Given the description of an element on the screen output the (x, y) to click on. 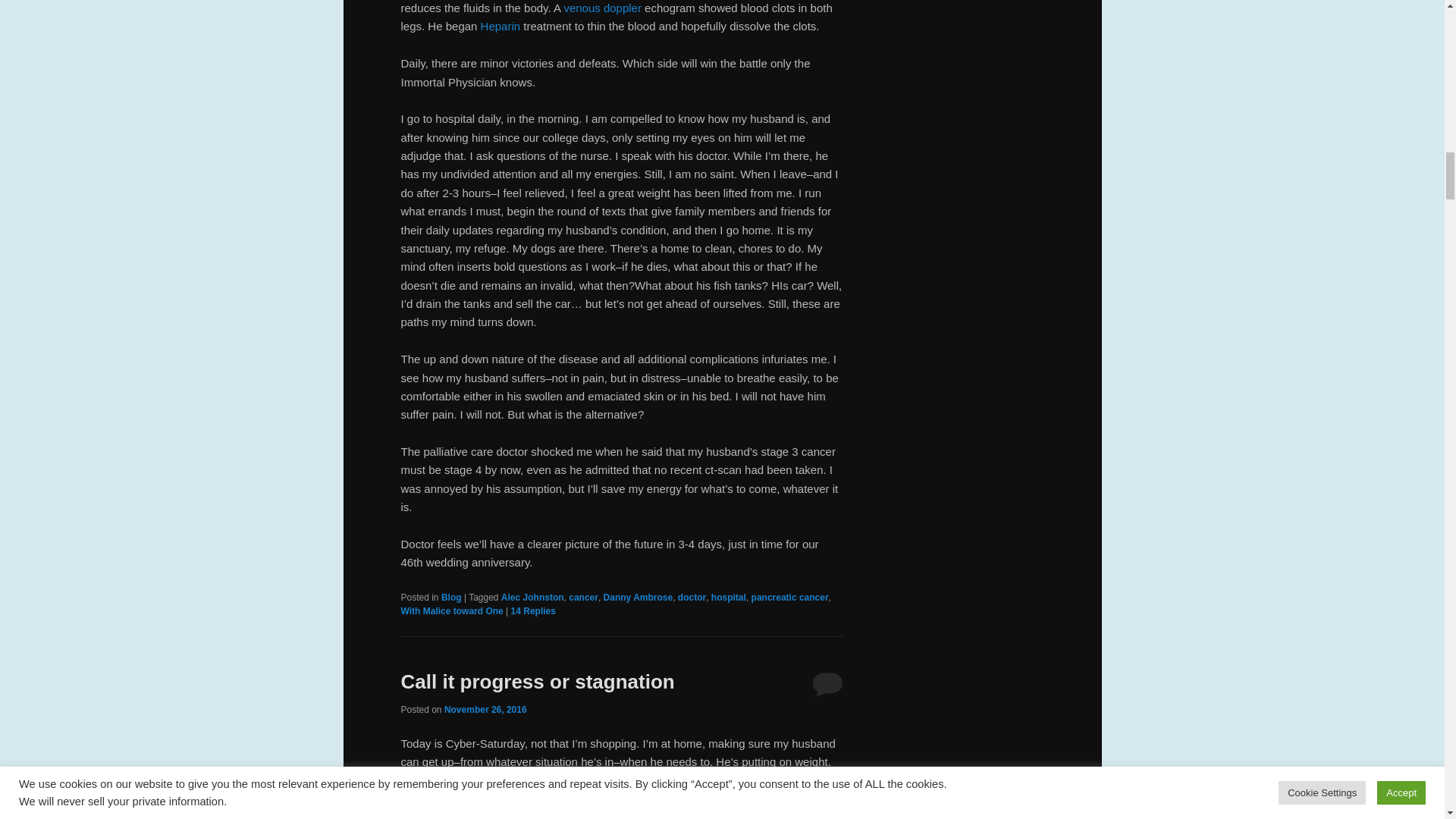
3:48 pm (485, 709)
